Given the description of an element on the screen output the (x, y) to click on. 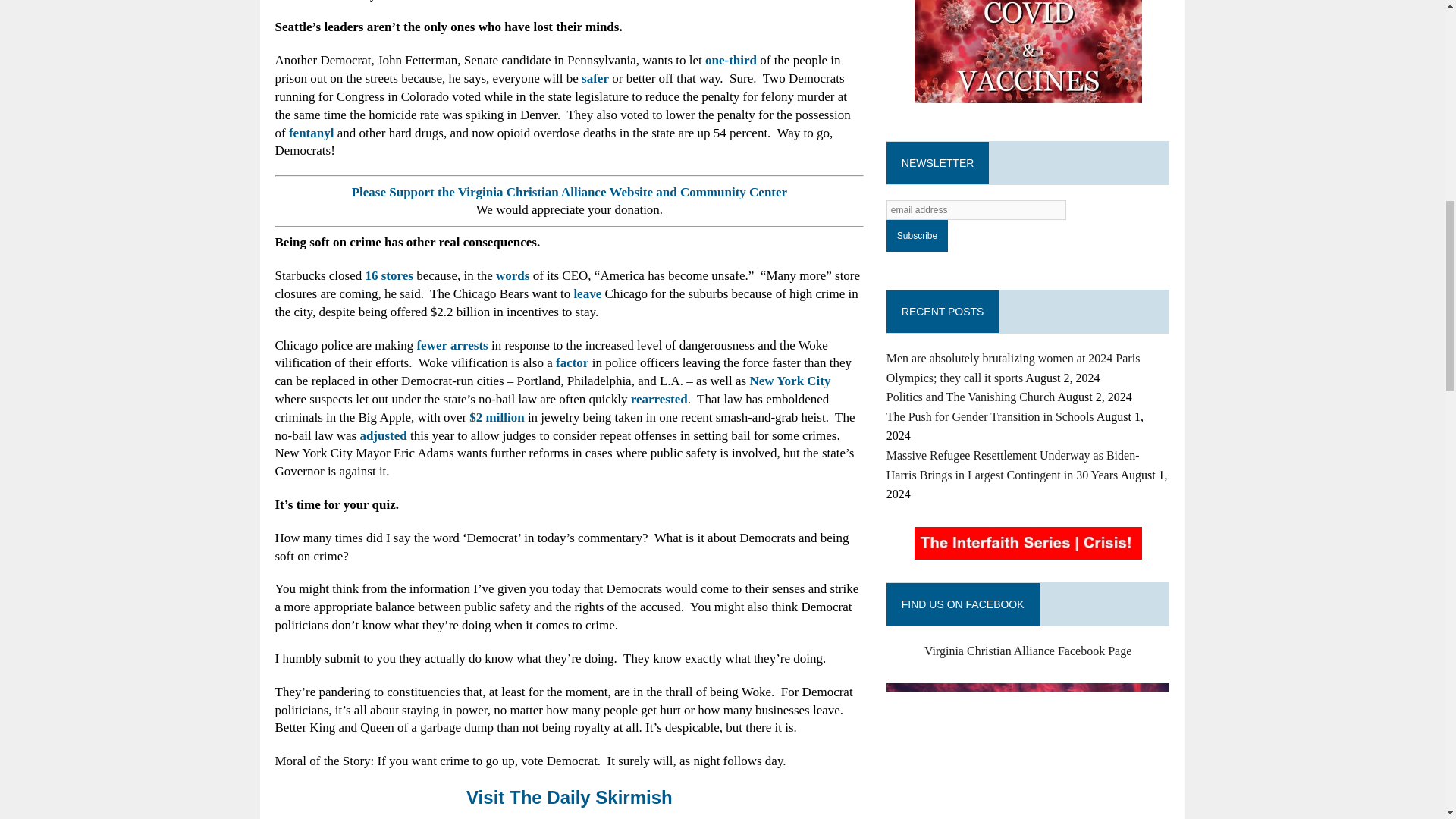
safer (594, 78)
fentanyl (311, 133)
16 stores (388, 275)
Subscribe (916, 235)
one-third (730, 60)
